Given the description of an element on the screen output the (x, y) to click on. 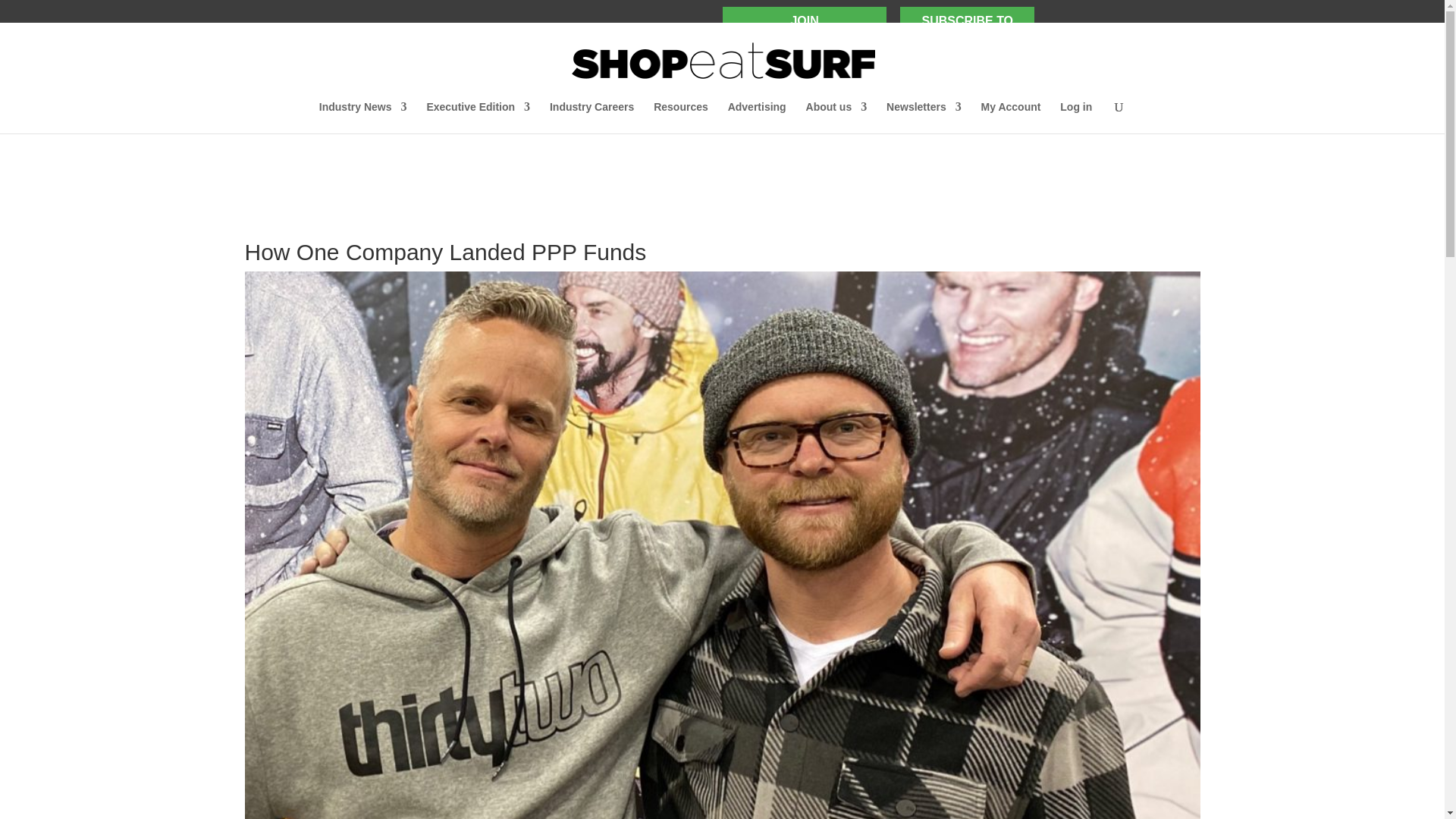
Advertising (757, 117)
Industry News (362, 117)
Newsletters (804, 27)
Log in (923, 117)
Industry Careers (1061, 38)
0 Items (591, 117)
About us (967, 27)
Executive Edition (1108, 35)
Resources (836, 117)
